Given the description of an element on the screen output the (x, y) to click on. 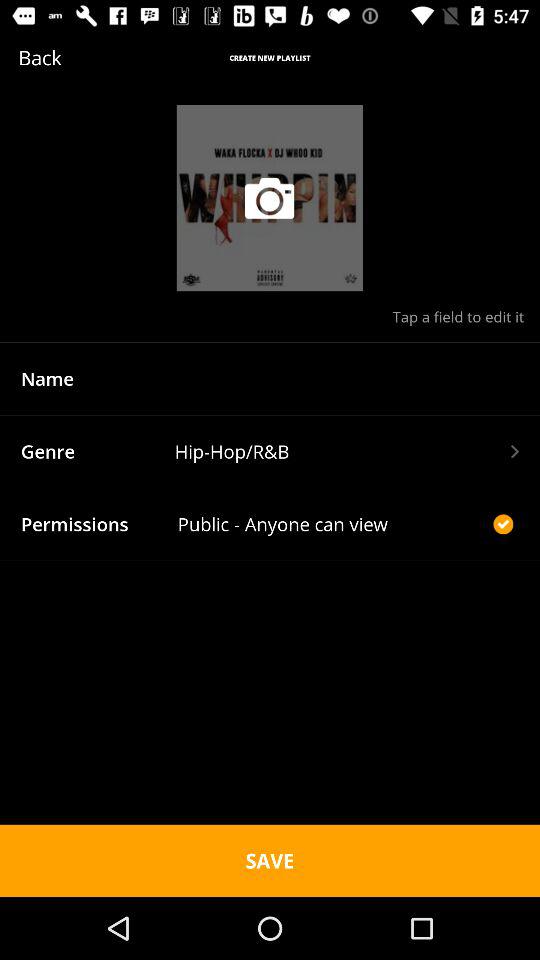
launch icon to the right of the name (346, 378)
